Given the description of an element on the screen output the (x, y) to click on. 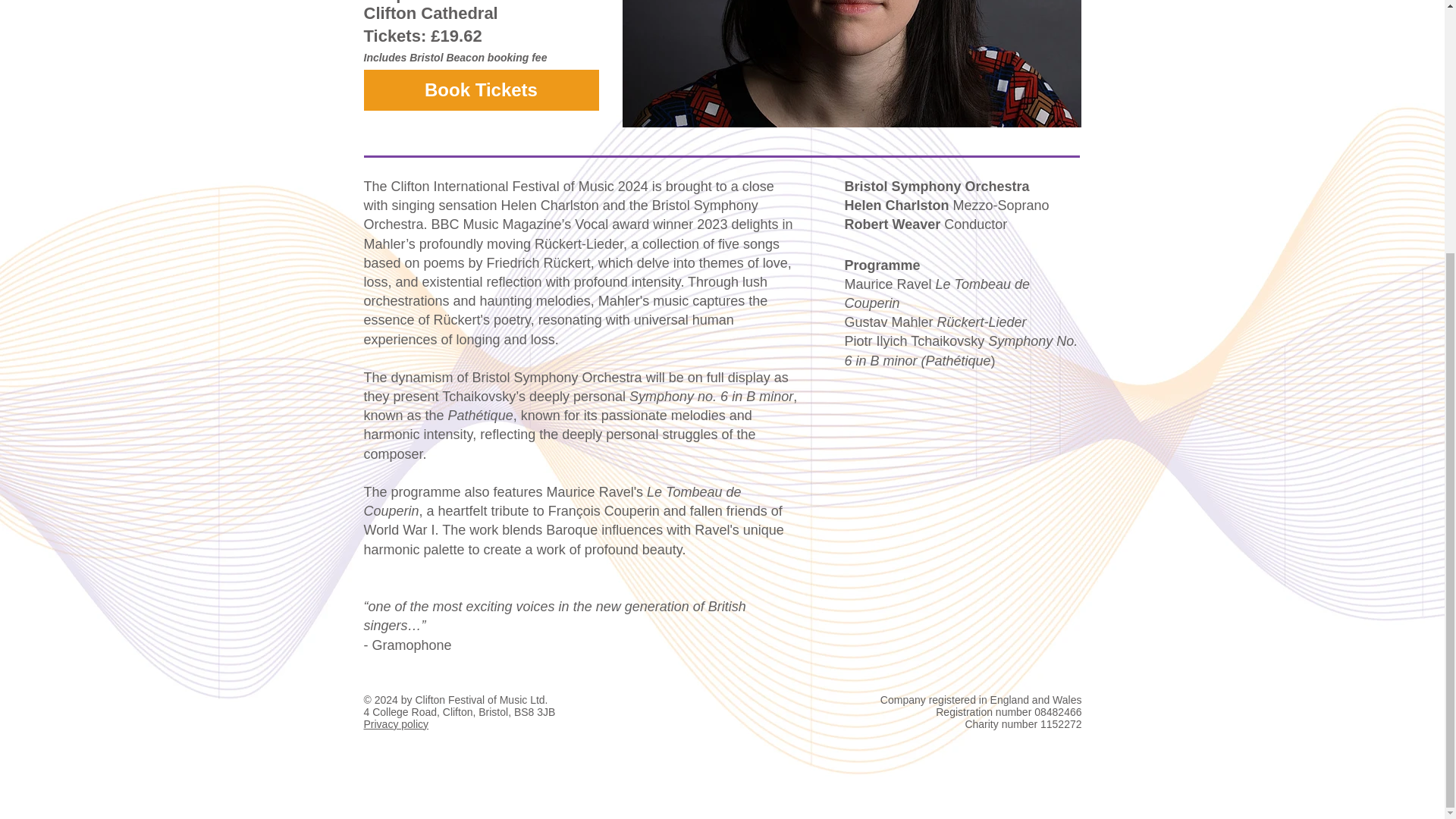
Privacy policy (396, 724)
Book Tickets (481, 89)
